Given the description of an element on the screen output the (x, y) to click on. 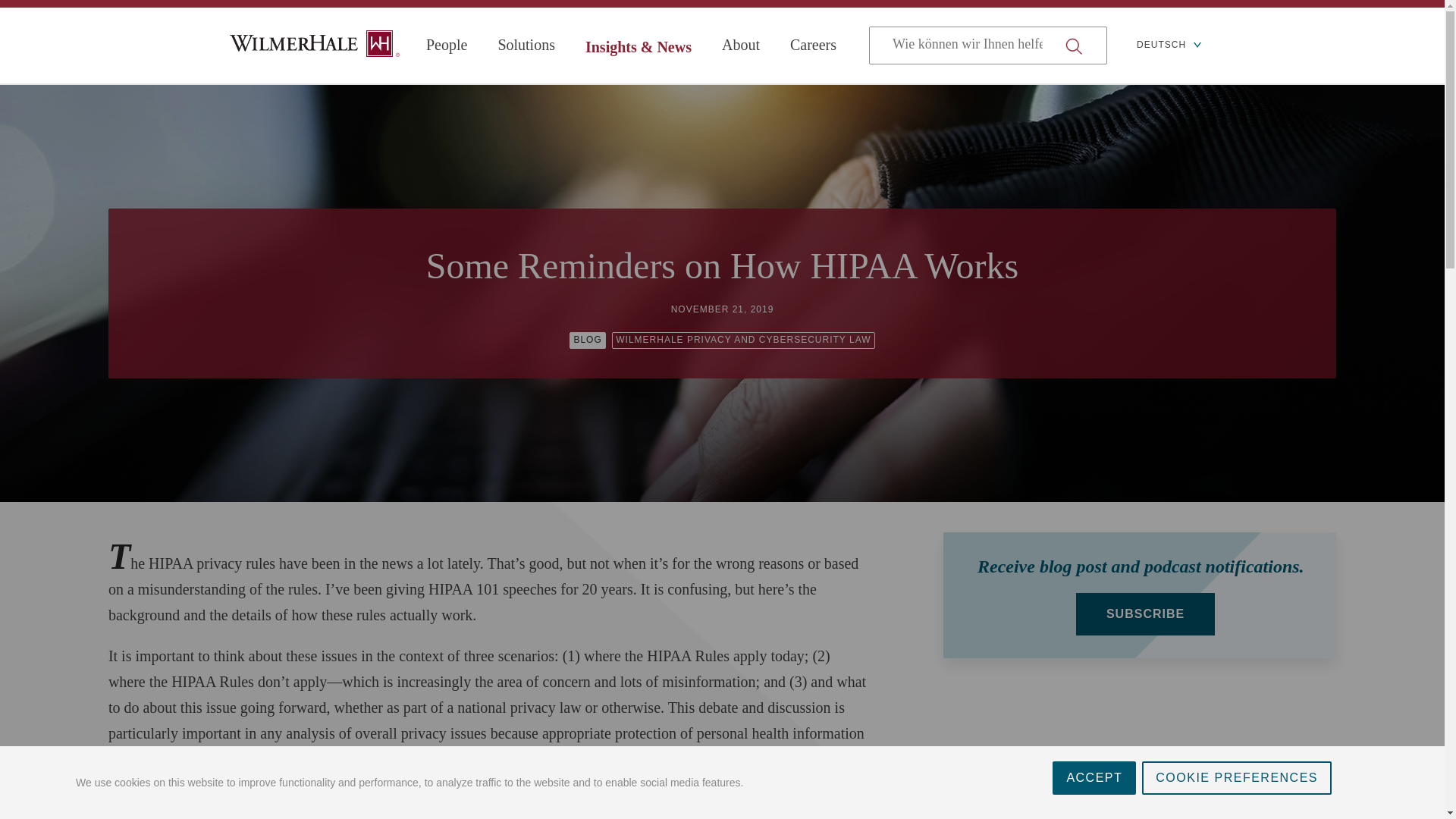
Careers (812, 45)
SUBSCRIBE (1144, 613)
Solutions (525, 45)
WILMERHALE PRIVACY AND CYBERSECURITY LAW (743, 340)
About (741, 45)
People (446, 45)
COOKIE PREFERENCES (1236, 789)
DEUTSCH (1168, 45)
ACCEPT (1093, 805)
